Given the description of an element on the screen output the (x, y) to click on. 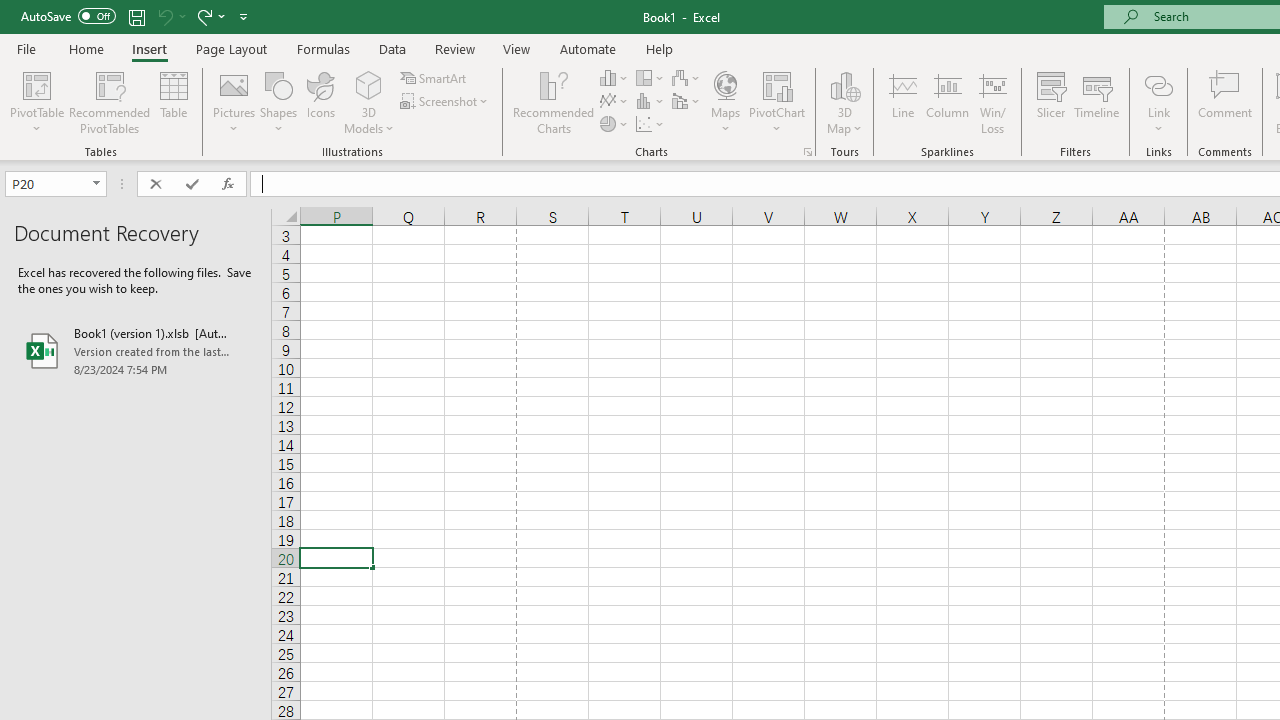
Link (1158, 84)
3D Map (845, 102)
Insert Waterfall, Funnel, Stock, Surface, or Radar Chart (687, 78)
PivotChart (777, 102)
Recommended Charts (808, 151)
Icons (320, 102)
